Given the description of an element on the screen output the (x, y) to click on. 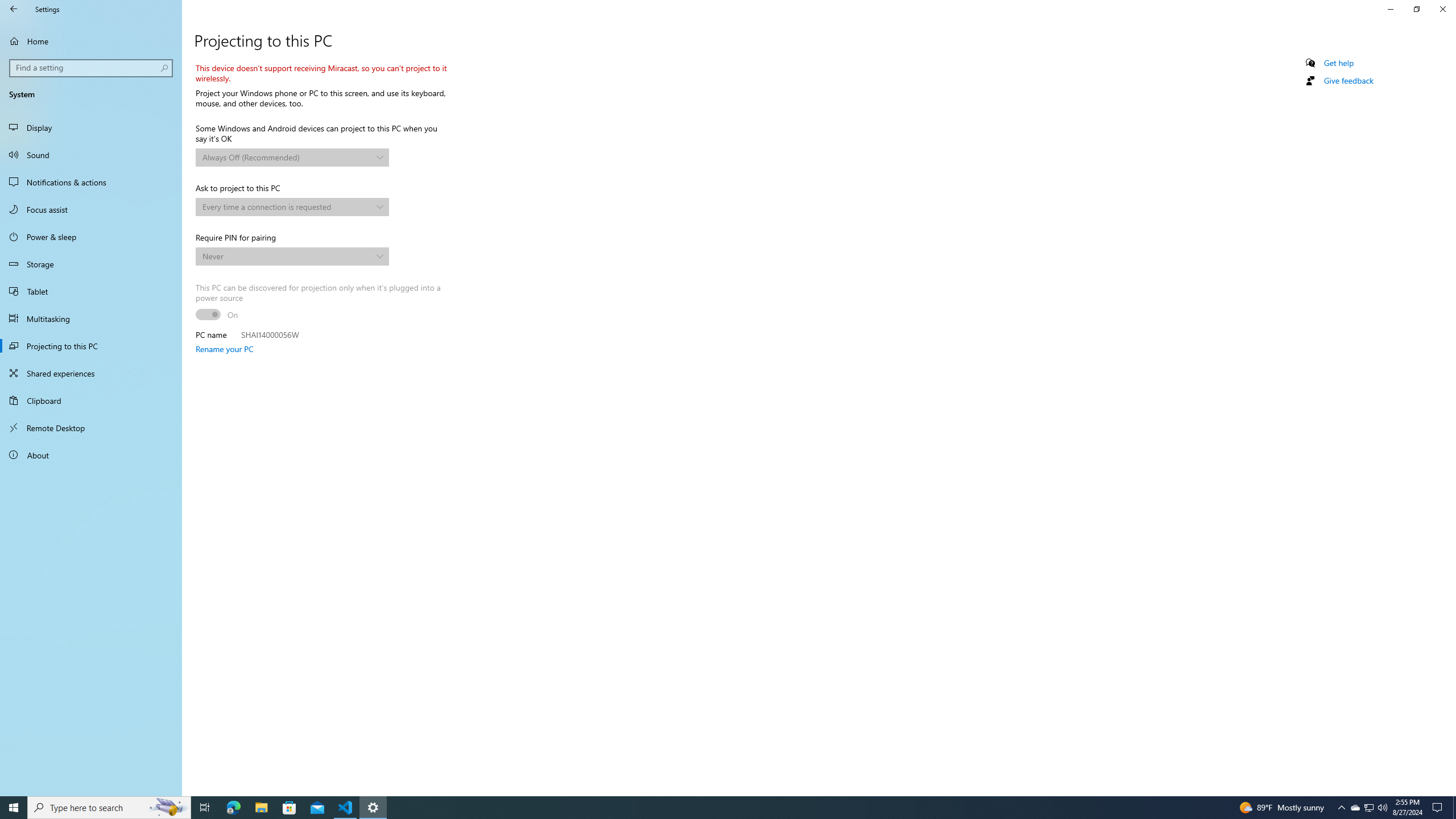
User Promoted Notification Area (1368, 807)
Show desktop (1368, 807)
Never (1454, 807)
Every time a connection is requested (286, 255)
Storage (286, 206)
Home (91, 263)
Task View (91, 40)
Remote Desktop (204, 807)
Type here to search (91, 427)
File Explorer (108, 807)
Visual Studio Code - 1 running window (261, 807)
Running applications (345, 807)
Q2790: 100% (717, 807)
